Given the description of an element on the screen output the (x, y) to click on. 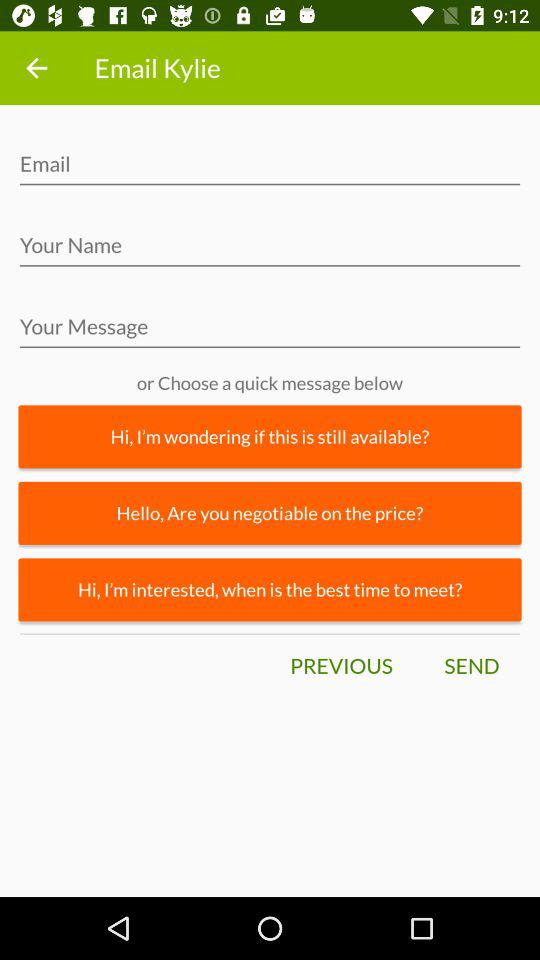
press previous item (341, 666)
